Given the description of an element on the screen output the (x, y) to click on. 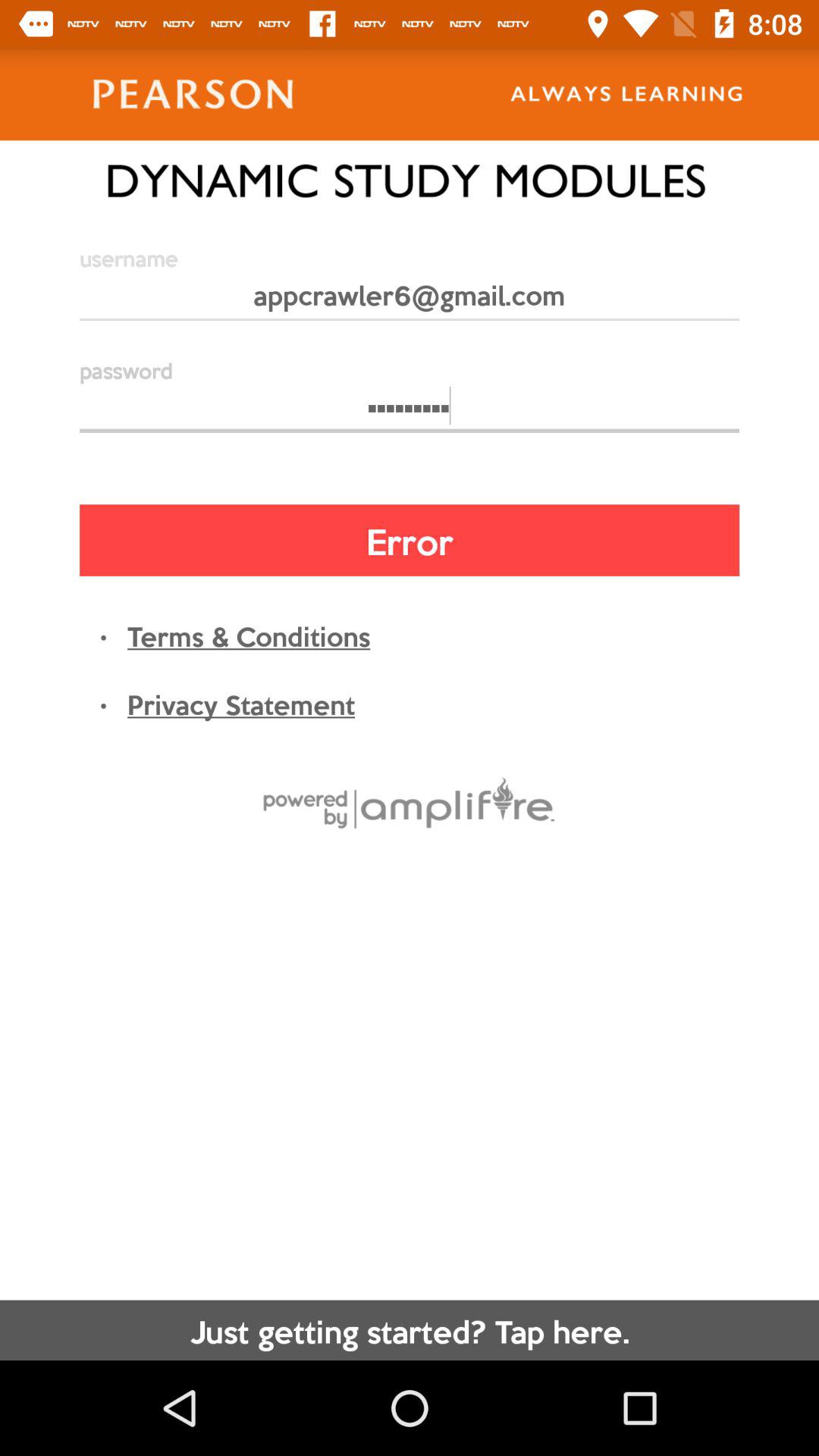
click the terms & conditions (248, 634)
